Given the description of an element on the screen output the (x, y) to click on. 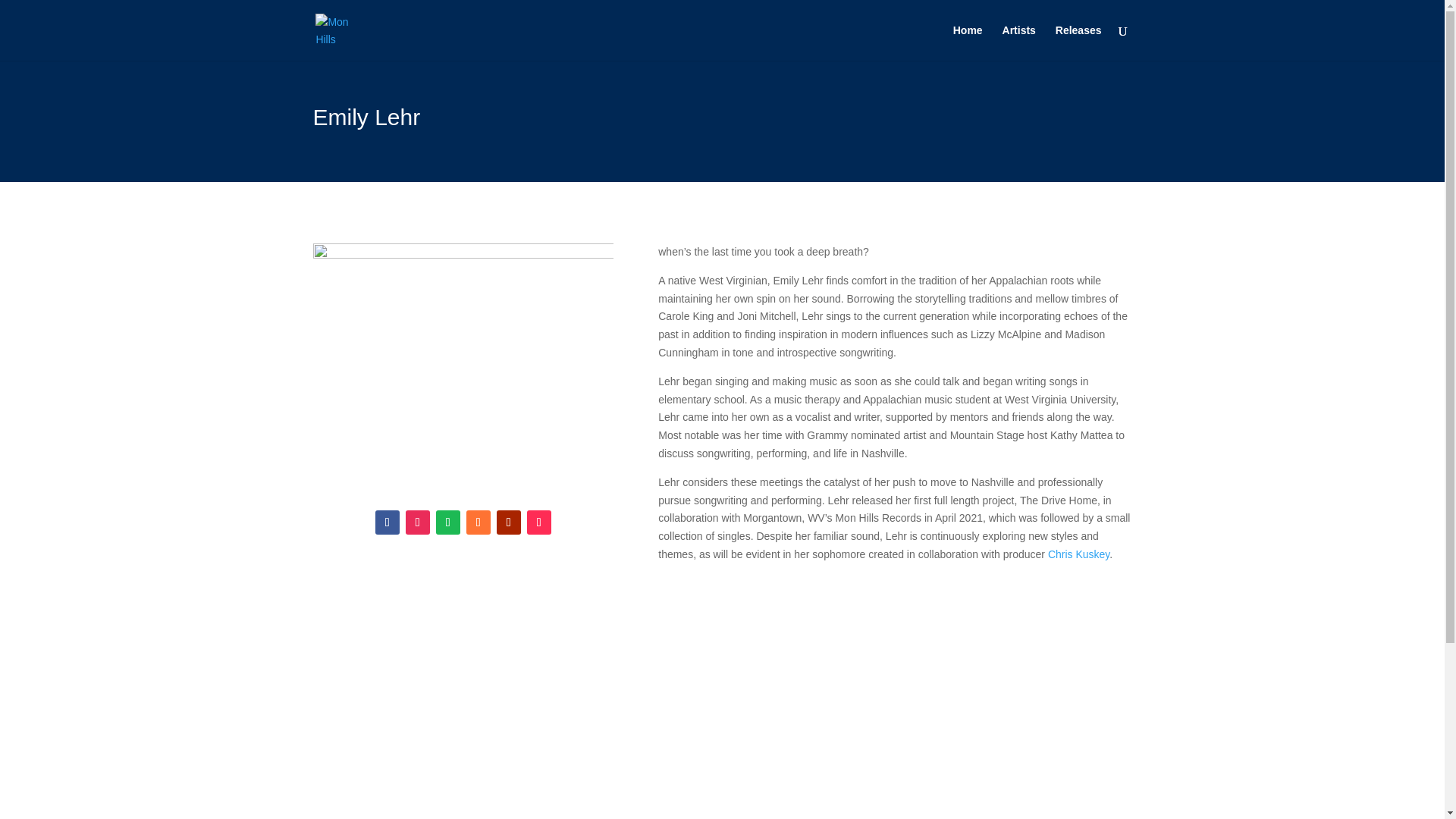
Follow on TikTok (539, 522)
Follow on Youtube (508, 522)
Releases (1078, 42)
Follow on Instagram (417, 522)
Chris Kuskey (1078, 553)
Follow on Facebook (386, 522)
Follow on iTunes (477, 522)
Artists (1019, 42)
Follow on Spotify (447, 522)
